Given the description of an element on the screen output the (x, y) to click on. 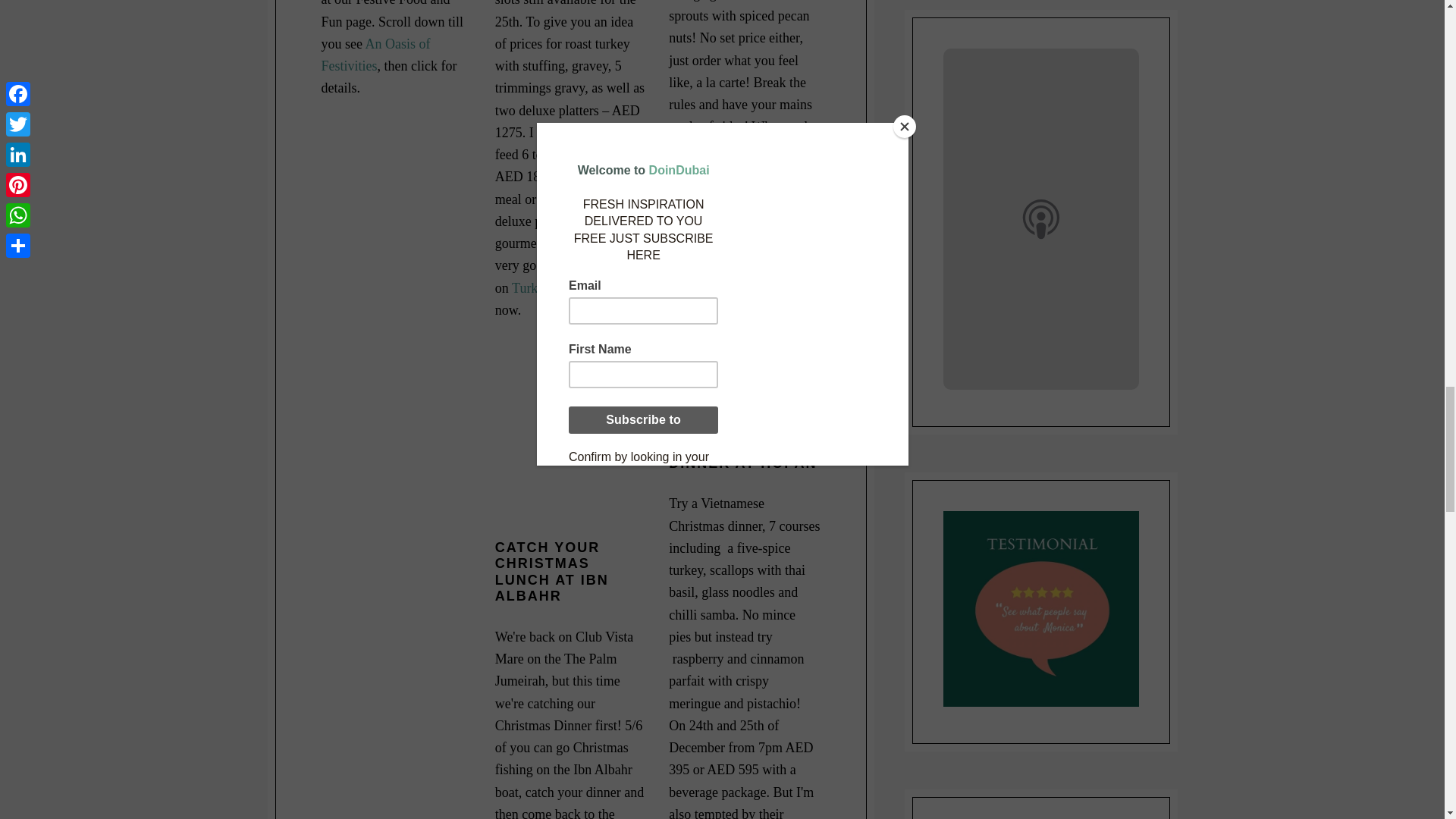
hoi-an-turkey (743, 323)
ibn-al-bahr-menu-club-vista-mare-doindubai (570, 440)
